Given the description of an element on the screen output the (x, y) to click on. 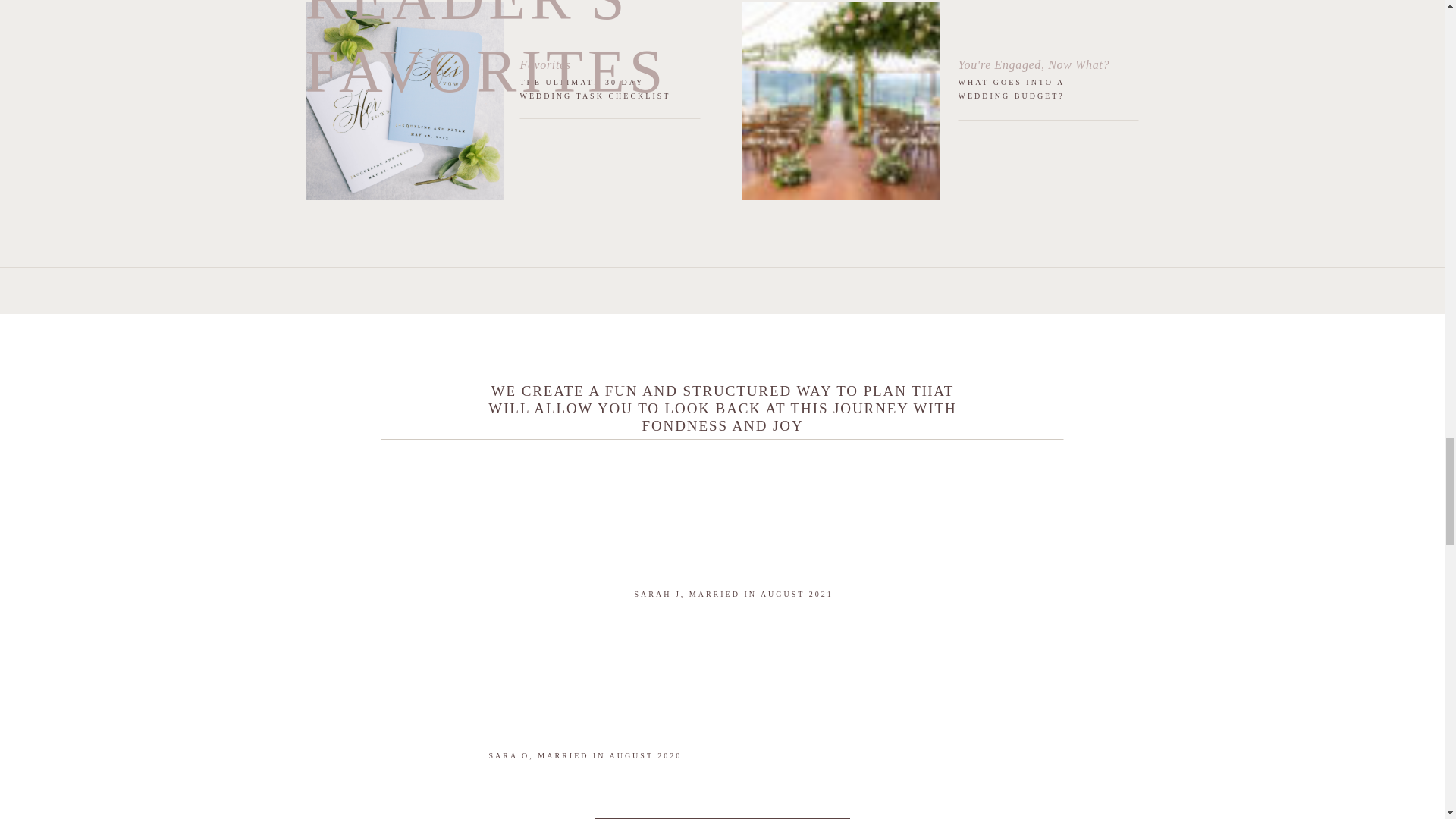
You're Engaged, Now What? (1033, 64)
WHAT GOES INTO A WEDDING BUDGET?  (1013, 88)
Favorites (544, 64)
The Ultimate 30 Day Wedding Task Checklist (403, 100)
THE ULTIMATE 30 DAY WEDDING TASK CHECKLIST (595, 88)
